Given the description of an element on the screen output the (x, y) to click on. 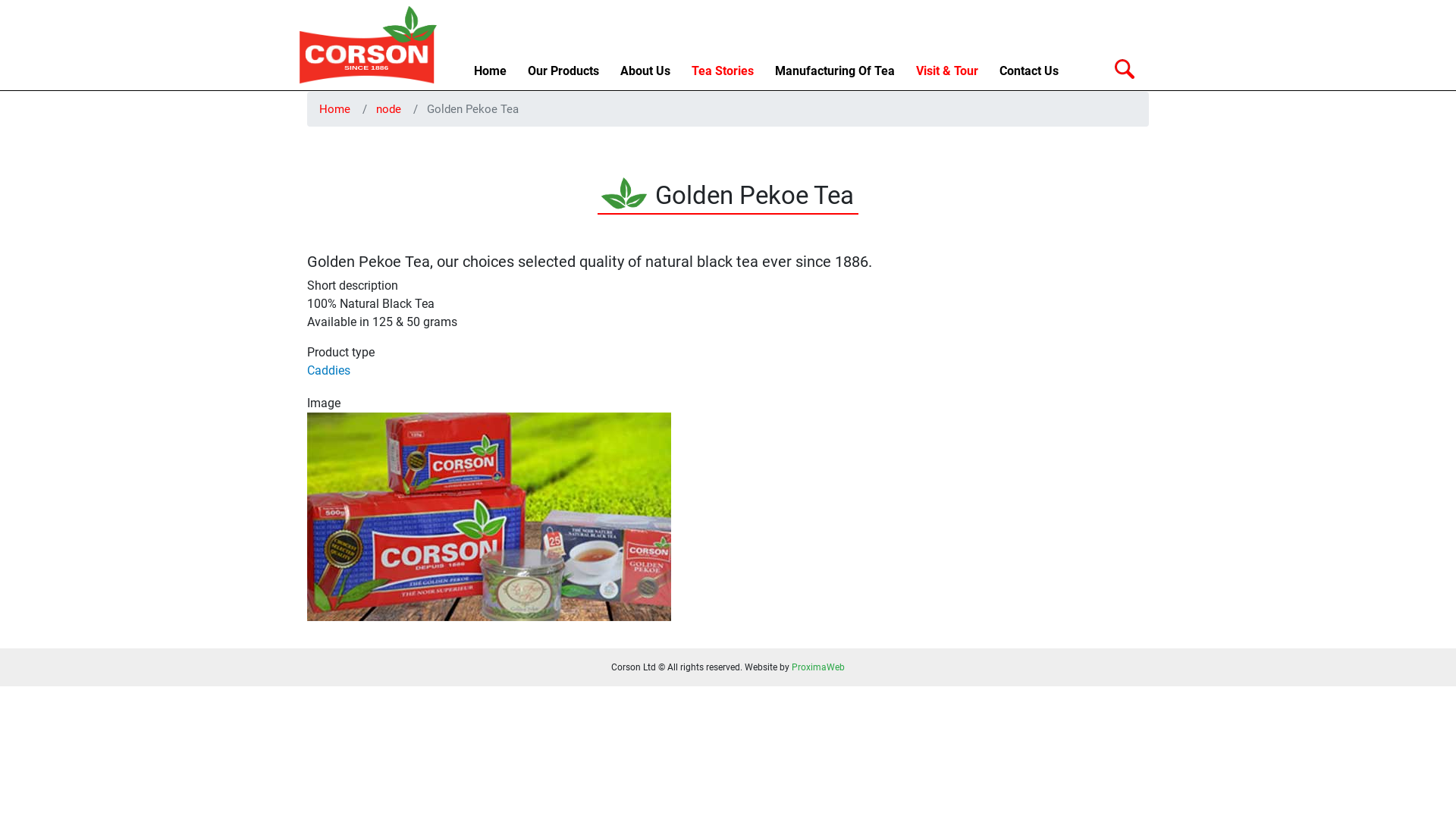
Home Element type: text (334, 109)
Manufacturing Of Tea Element type: text (834, 71)
Caddies Element type: text (328, 370)
Home Element type: text (490, 71)
About Us Element type: text (644, 71)
Visit & Tour Element type: text (946, 71)
ProximaWeb Element type: text (817, 667)
Our Products Element type: text (563, 71)
Skip to main content Element type: text (727, 92)
Tea Stories Element type: text (722, 71)
Contact Us Element type: text (1028, 71)
Search Element type: text (1124, 68)
Corson Element type: text (367, 45)
node Element type: text (388, 109)
